Given the description of an element on the screen output the (x, y) to click on. 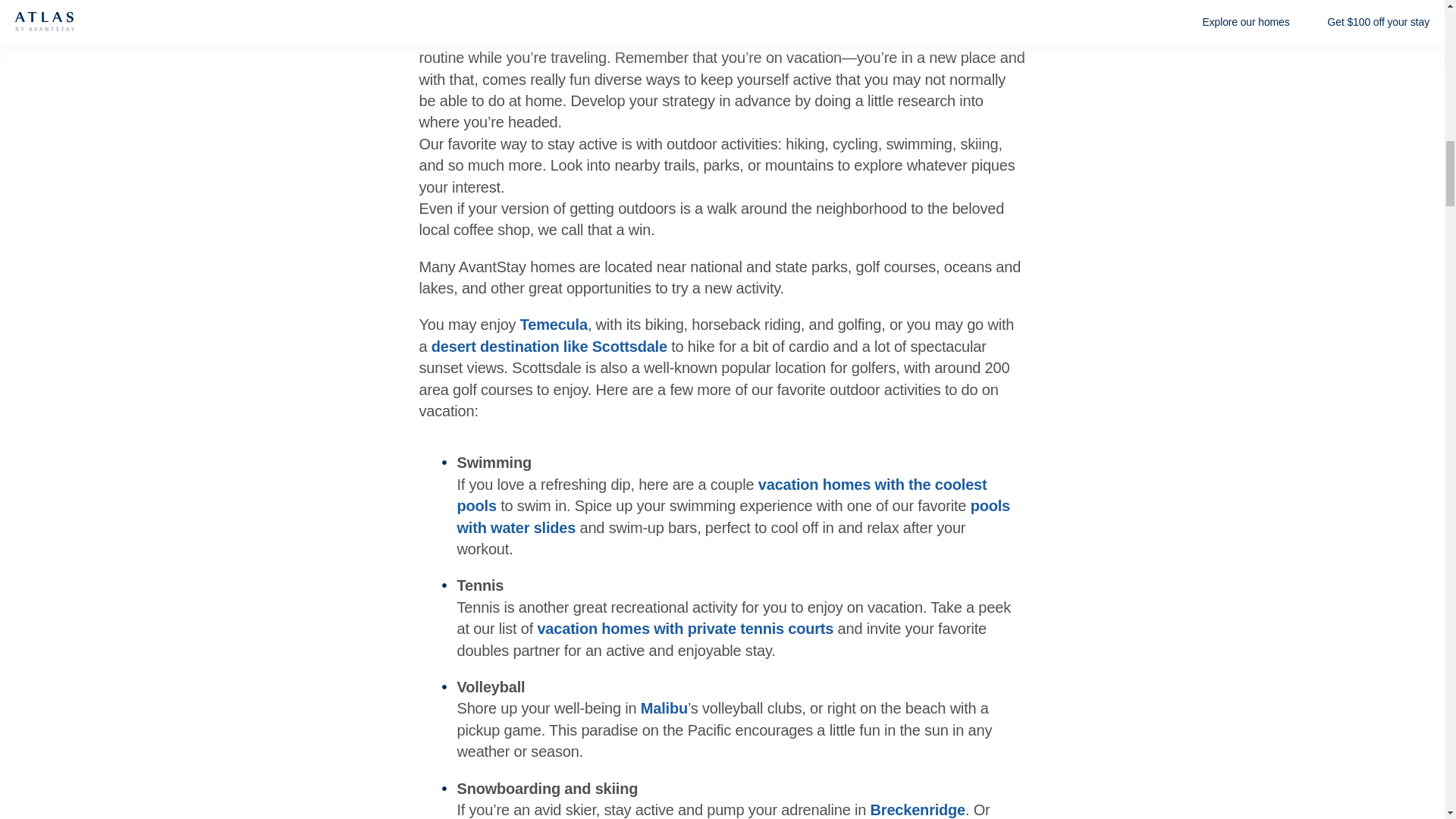
Breckenridge (917, 809)
Malibu (663, 708)
vacation homes with private tennis courts (684, 628)
vacation homes with the coolest pools (722, 494)
desert destination like Scottsdale (548, 346)
Temecula (553, 324)
pools with water slides (733, 516)
